Given the description of an element on the screen output the (x, y) to click on. 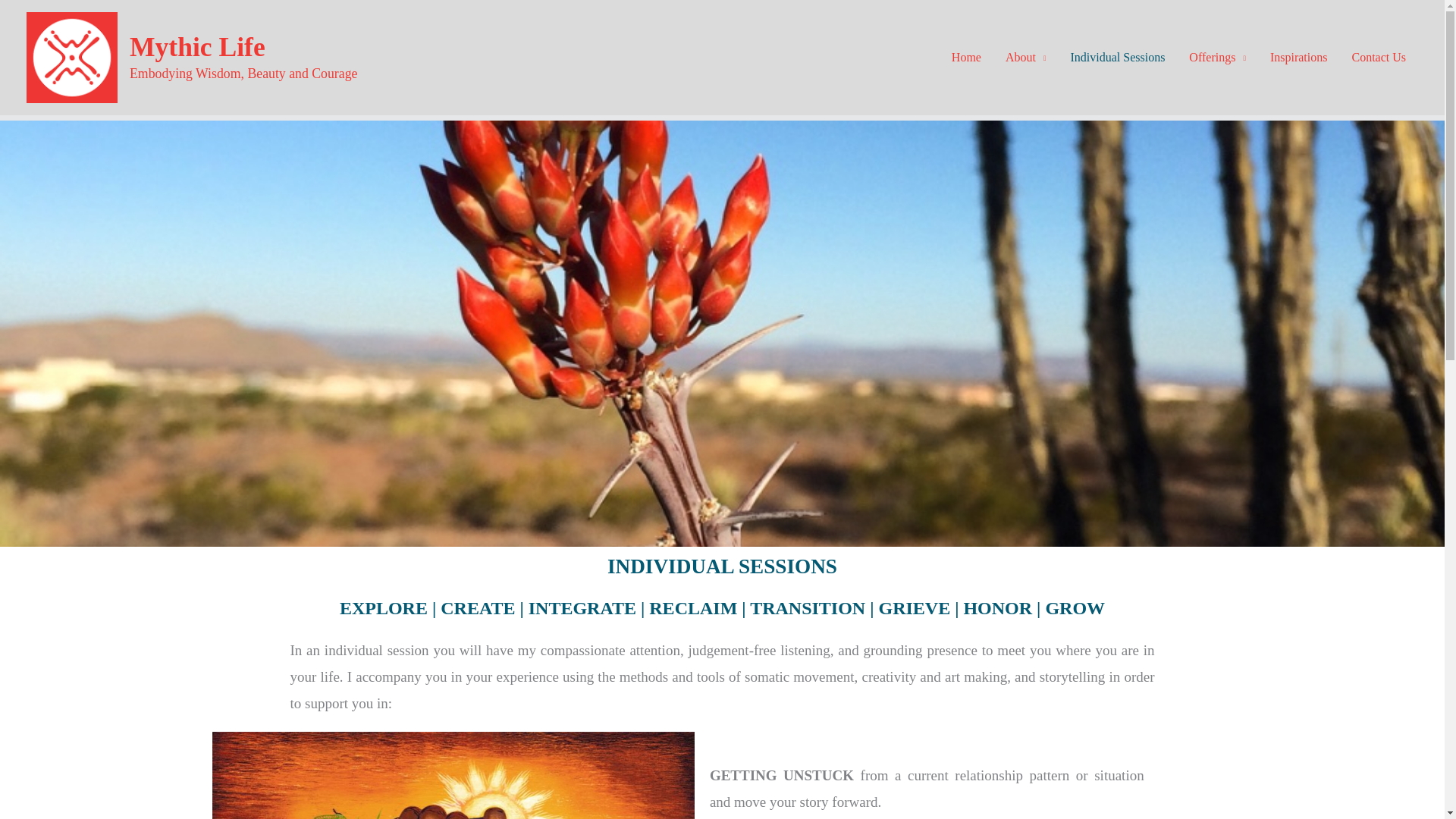
Mythic Life (196, 46)
Home (965, 57)
About (1025, 57)
Individual Sessions (1117, 57)
Offerings (1216, 57)
Inspirations (1298, 57)
Contact Us (1378, 57)
